Given the description of an element on the screen output the (x, y) to click on. 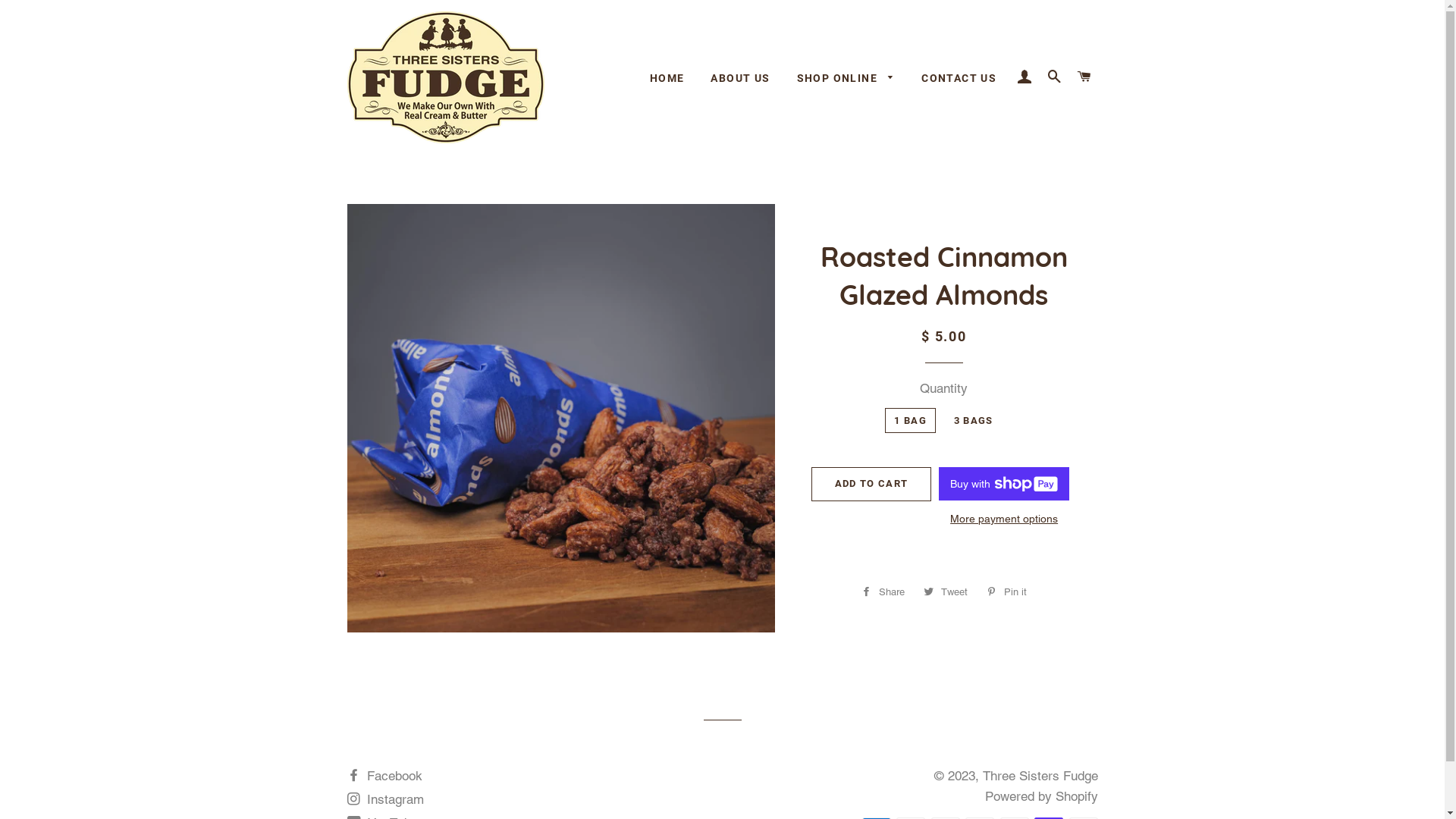
Powered by Shopify Element type: text (1040, 795)
SHOP ONLINE Element type: text (845, 78)
Tweet
Tweet on Twitter Element type: text (945, 591)
Three Sisters Fudge Element type: text (1040, 775)
Share
Share on Facebook Element type: text (882, 591)
Instagram Element type: text (385, 798)
CART Element type: text (1084, 77)
CONTACT US Element type: text (958, 78)
LOG IN Element type: text (1024, 77)
Facebook Element type: text (384, 775)
More payment options Element type: text (1003, 519)
HOME Element type: text (667, 78)
ADD TO CART Element type: text (871, 483)
SEARCH Element type: text (1054, 77)
ABOUT US Element type: text (740, 78)
Pin it
Pin on Pinterest Element type: text (1006, 591)
